Given the description of an element on the screen output the (x, y) to click on. 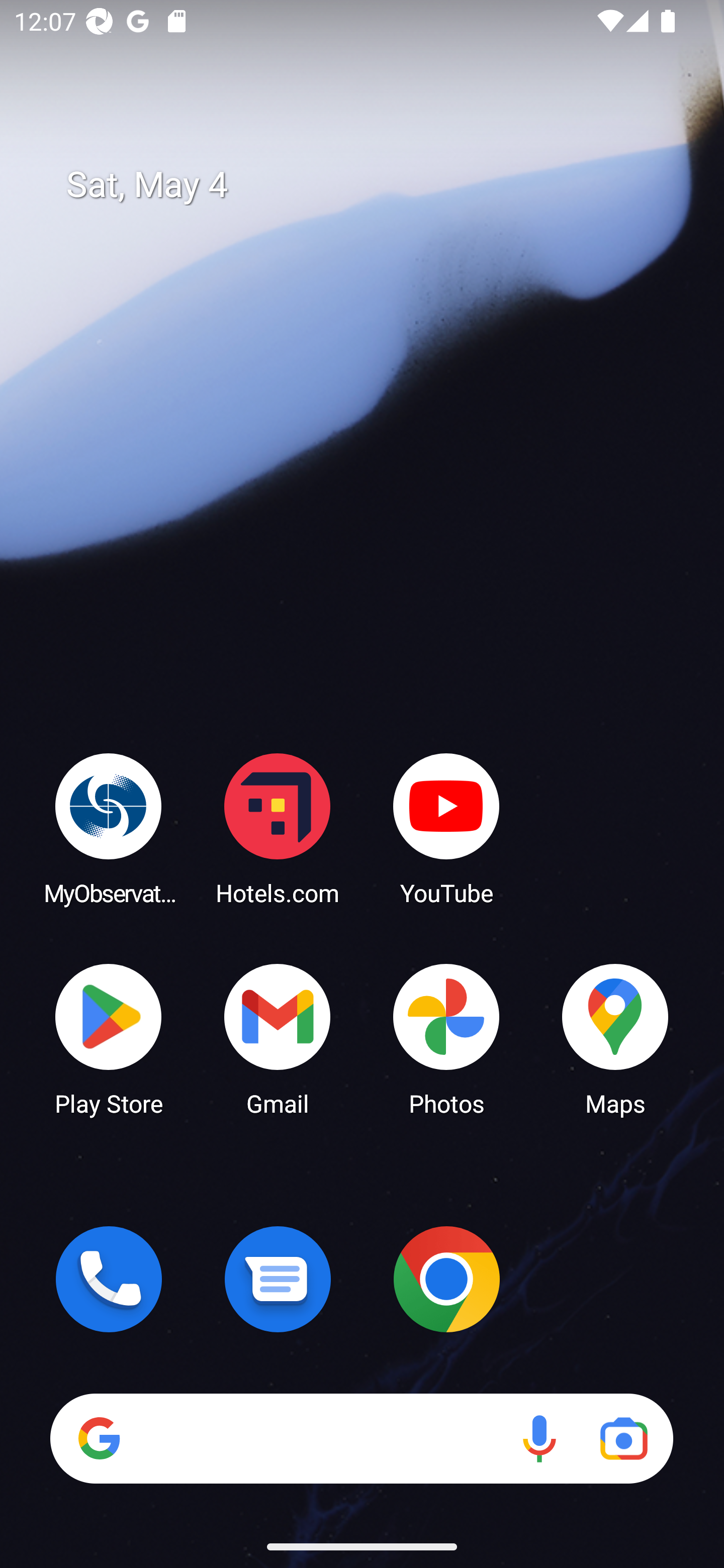
Sat, May 4 (375, 184)
MyObservatory (108, 828)
Hotels.com (277, 828)
YouTube (445, 828)
Play Store (108, 1038)
Gmail (277, 1038)
Photos (445, 1038)
Maps (615, 1038)
Phone (108, 1279)
Messages (277, 1279)
Chrome (446, 1279)
Search Voice search Google Lens (361, 1438)
Voice search (539, 1438)
Google Lens (623, 1438)
